Given the description of an element on the screen output the (x, y) to click on. 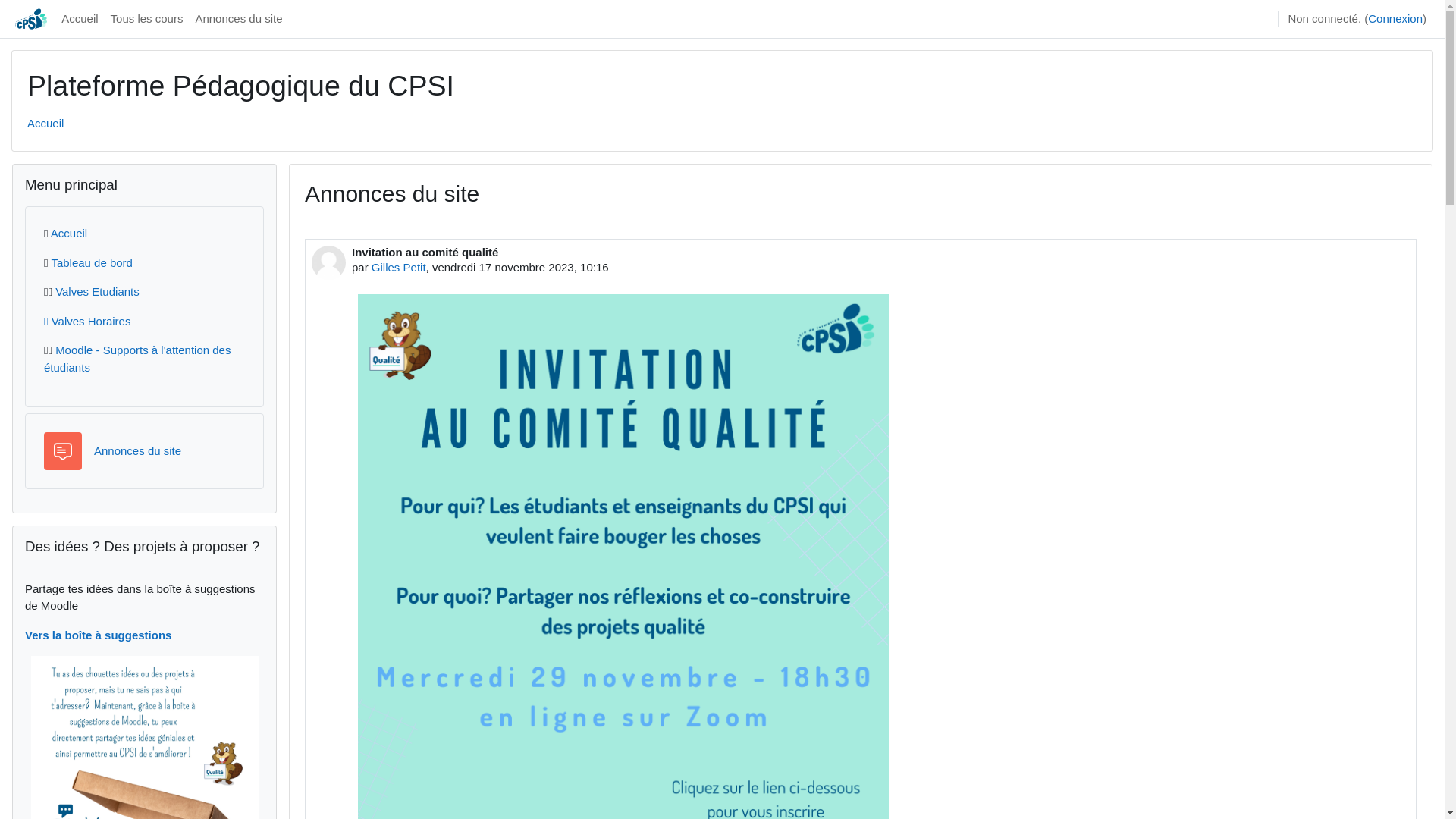
Tableau de bord Element type: text (91, 262)
Annonces du site Element type: text (238, 18)
Valves Etudiants Element type: text (97, 291)
Connexion Element type: text (1395, 19)
Gilles Petit Element type: text (398, 266)
Accueil Element type: text (79, 18)
Accueil Element type: text (68, 232)
Passer Menu principal Element type: text (11, 162)
Avatar Gilles Petit Element type: hover (328, 262)
Annonces du site
Forum Element type: text (137, 450)
Accueil Element type: text (45, 122)
Tous les cours Element type: text (146, 18)
